Given the description of an element on the screen output the (x, y) to click on. 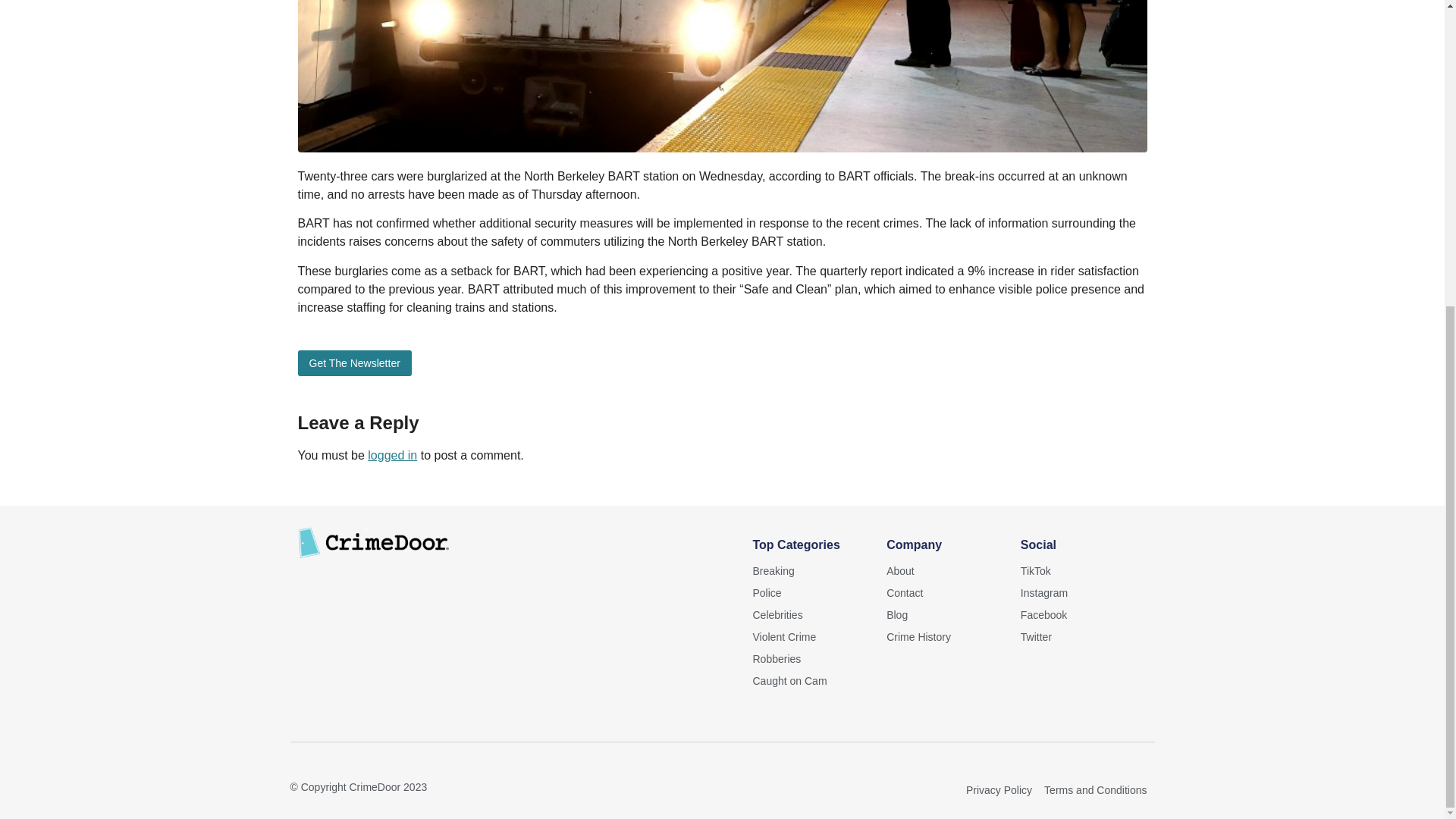
Get The Newsletter (353, 362)
logged in (392, 454)
